Given the description of an element on the screen output the (x, y) to click on. 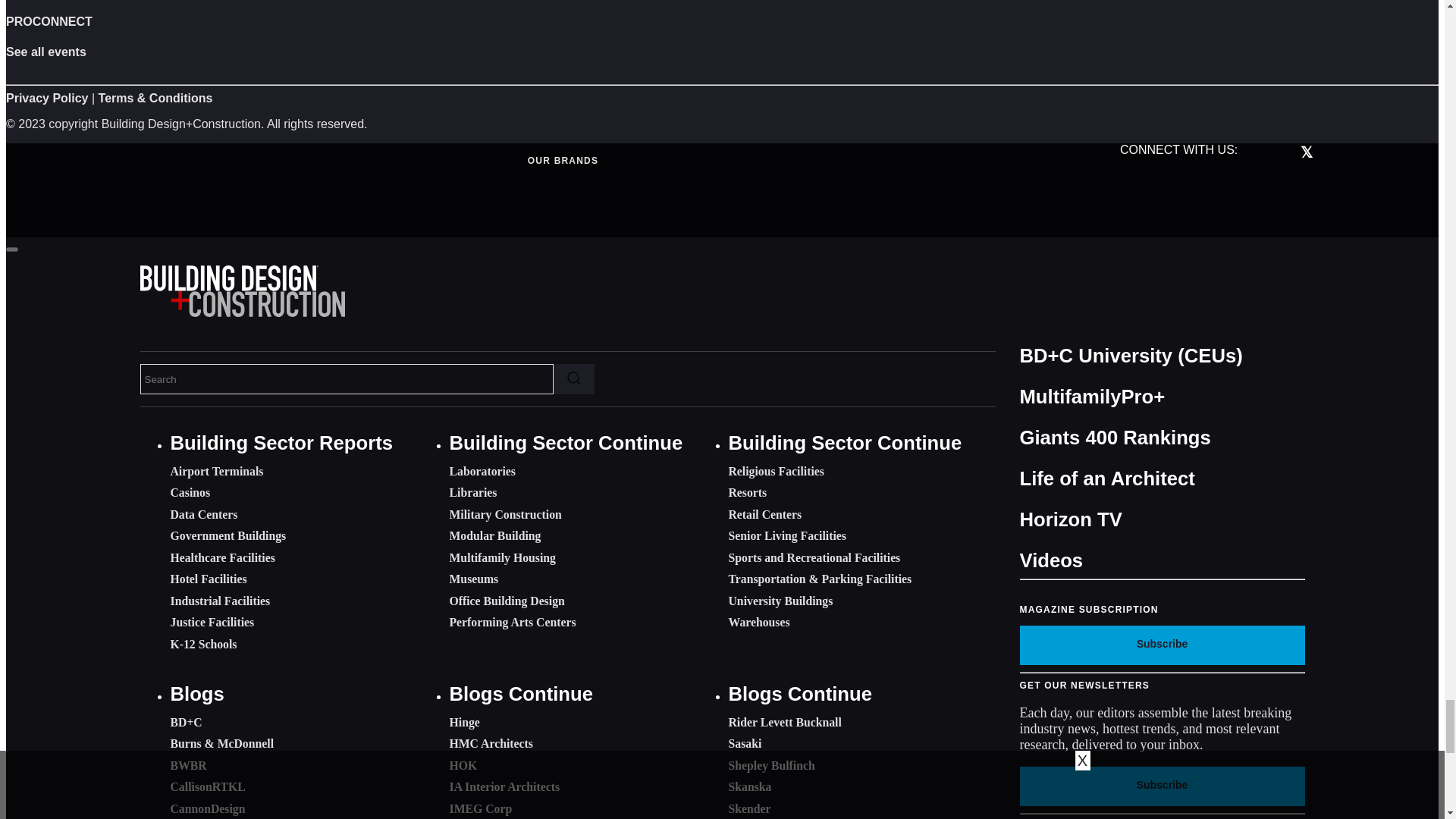
Terms and Conditions (155, 97)
Privacy Policy (46, 97)
Home (241, 312)
